Given the description of an element on the screen output the (x, y) to click on. 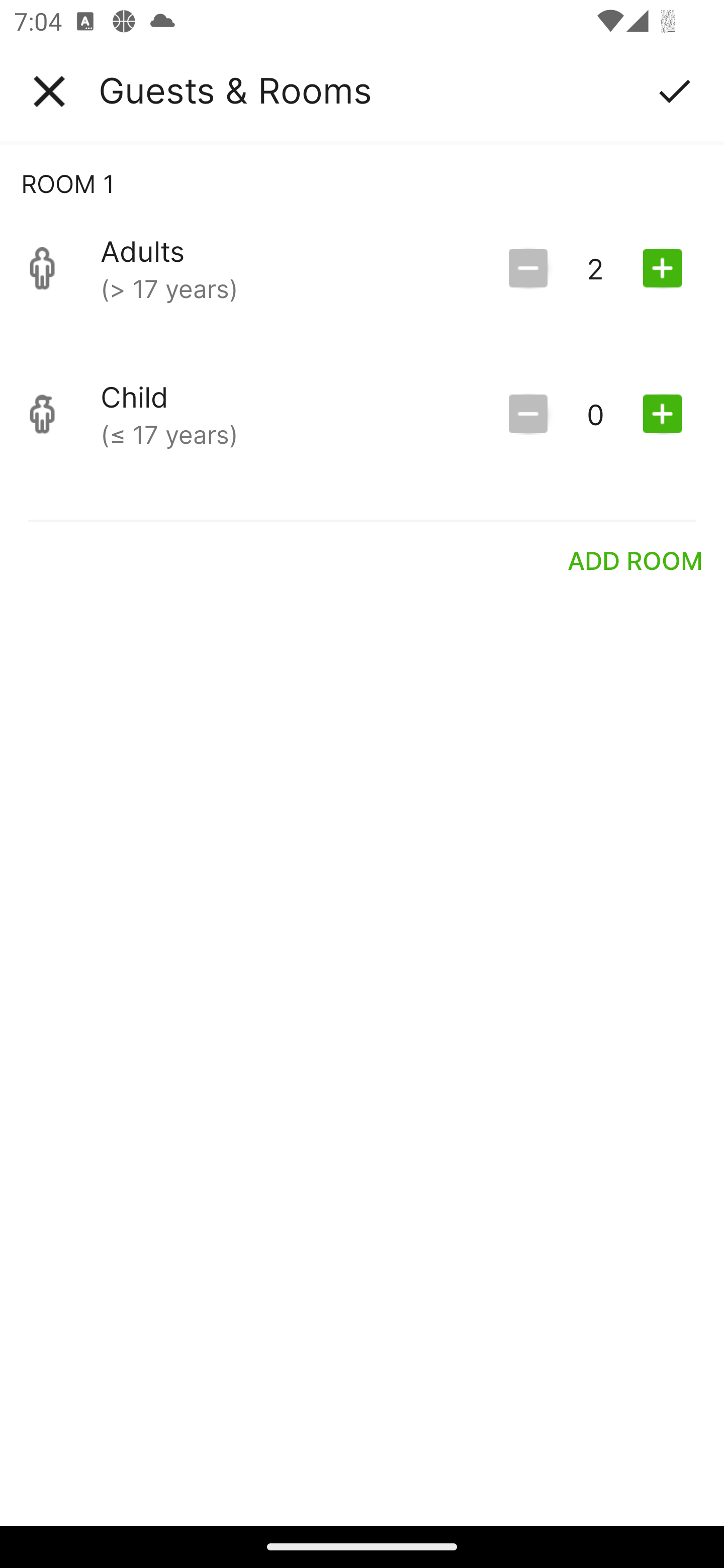
ADD ROOM (635, 560)
